Given the description of an element on the screen output the (x, y) to click on. 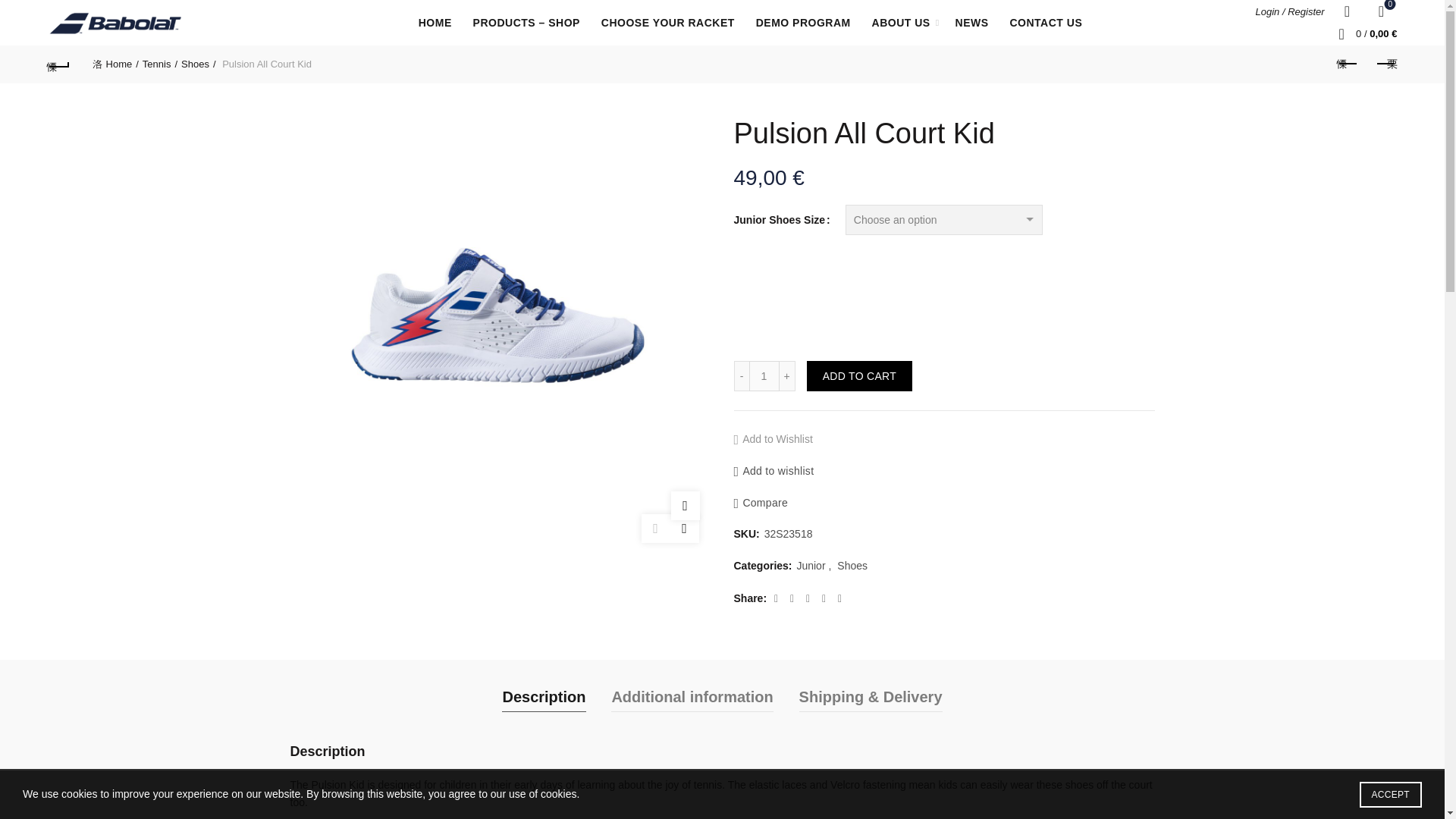
CONTACT US (1045, 22)
NEWS (971, 22)
DEMO PROGRAM (802, 22)
ABOUT US (900, 22)
Search (30, 45)
CHOOSE YOUR RACKET (667, 22)
Tennis (159, 63)
Home (115, 63)
1 (763, 376)
Back (59, 64)
HOME (435, 22)
- (1380, 11)
